Given the description of an element on the screen output the (x, y) to click on. 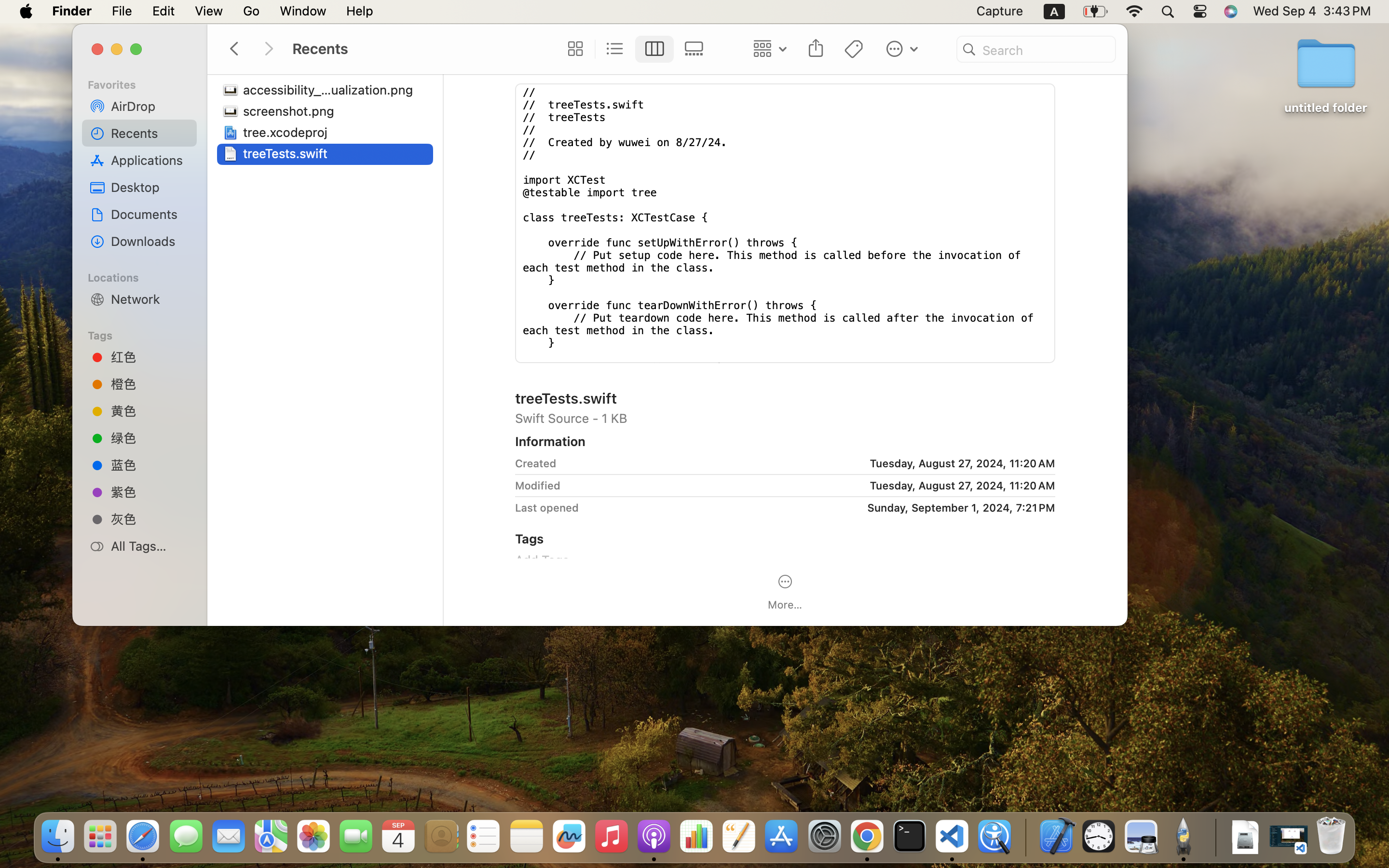
Modified Element type: AXStaticText (537, 484)
AirDrop Element type: AXStaticText (149, 105)
Documents Element type: AXStaticText (149, 213)
Locations Element type: AXStaticText (144, 276)
Tags Element type: AXStaticText (144, 334)
